Given the description of an element on the screen output the (x, y) to click on. 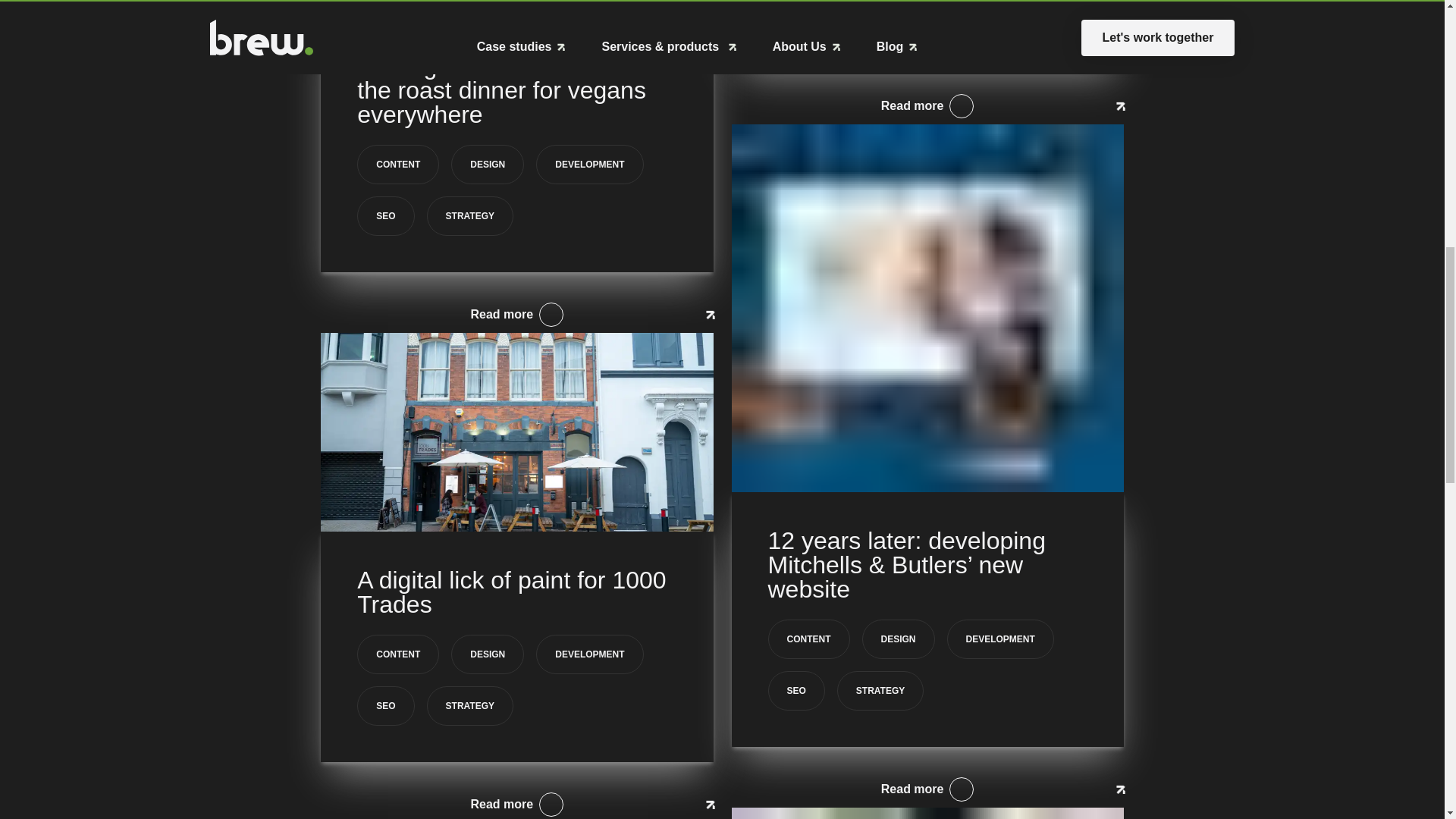
Read more (927, 105)
Read more (516, 314)
Read more (516, 802)
Read more (927, 789)
